Given the description of an element on the screen output the (x, y) to click on. 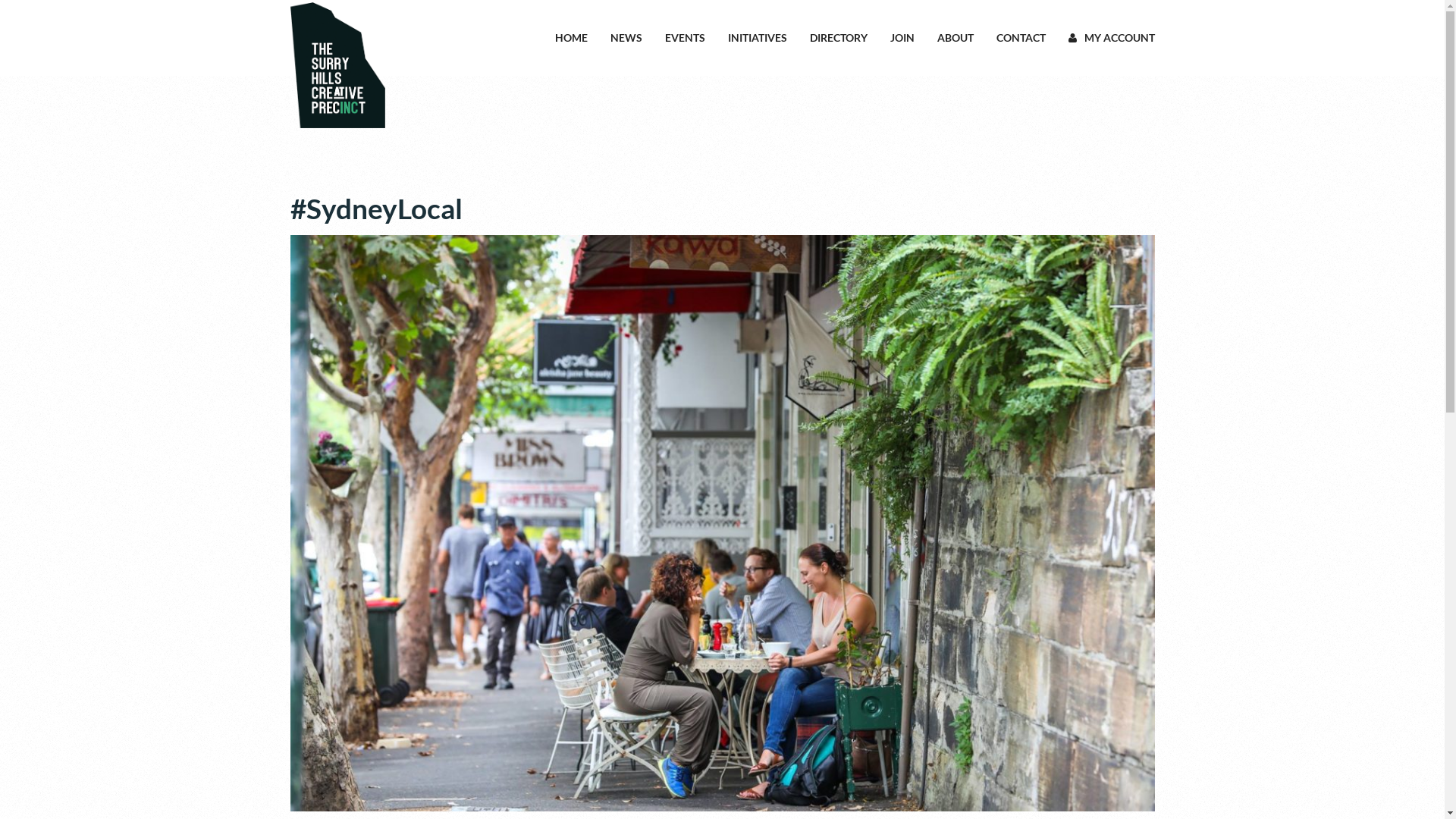
INITIATIVES Element type: text (757, 37)
NEWS Element type: text (625, 37)
ABOUT Element type: text (955, 37)
HOME Element type: text (571, 37)
CONTACT Element type: text (1020, 37)
MY ACCOUNT Element type: text (1110, 37)
DIRECTORY Element type: text (838, 37)
JOIN Element type: text (902, 37)
EVENTS Element type: text (684, 37)
